Given the description of an element on the screen output the (x, y) to click on. 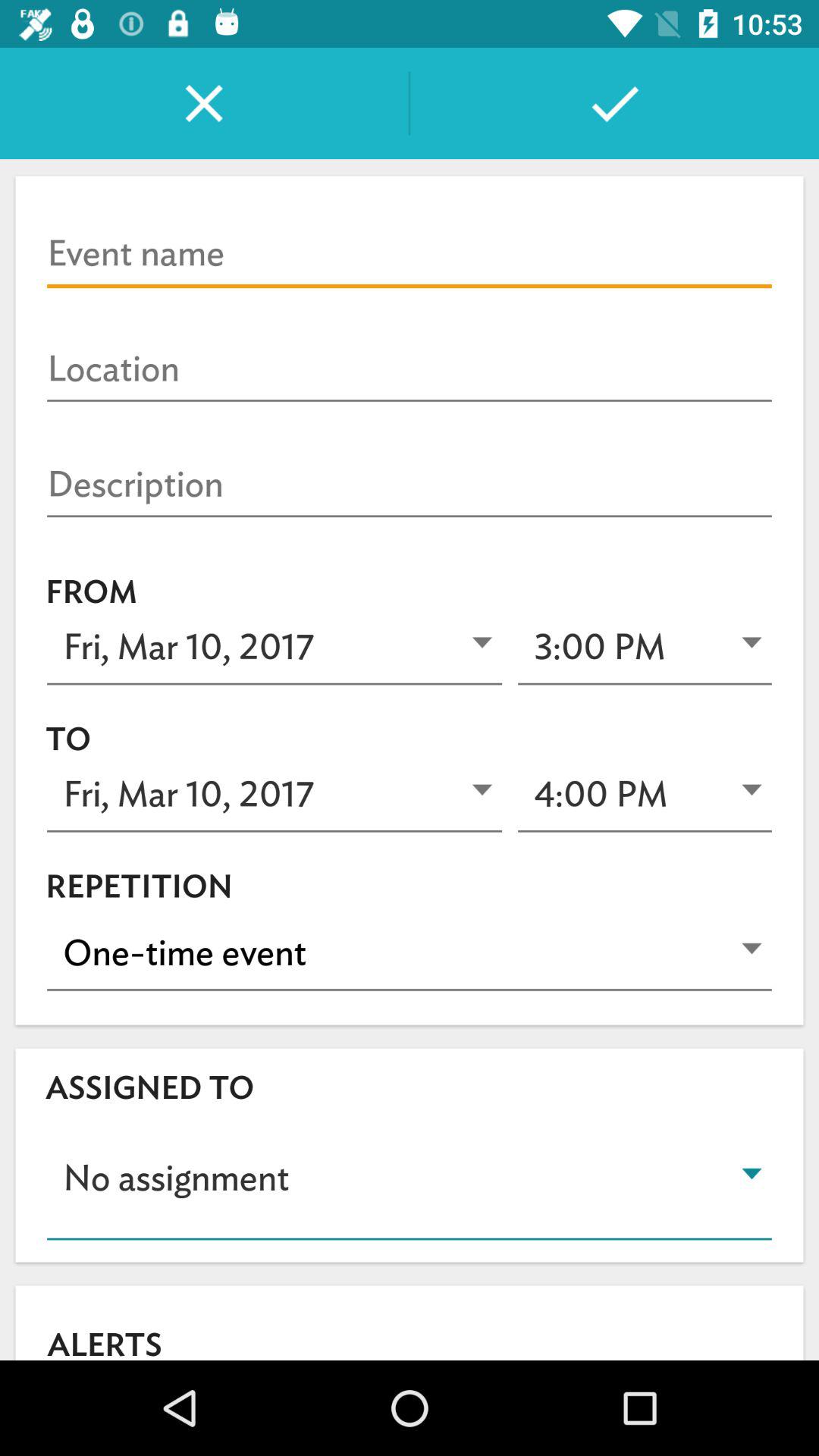
enter event location (409, 369)
